Given the description of an element on the screen output the (x, y) to click on. 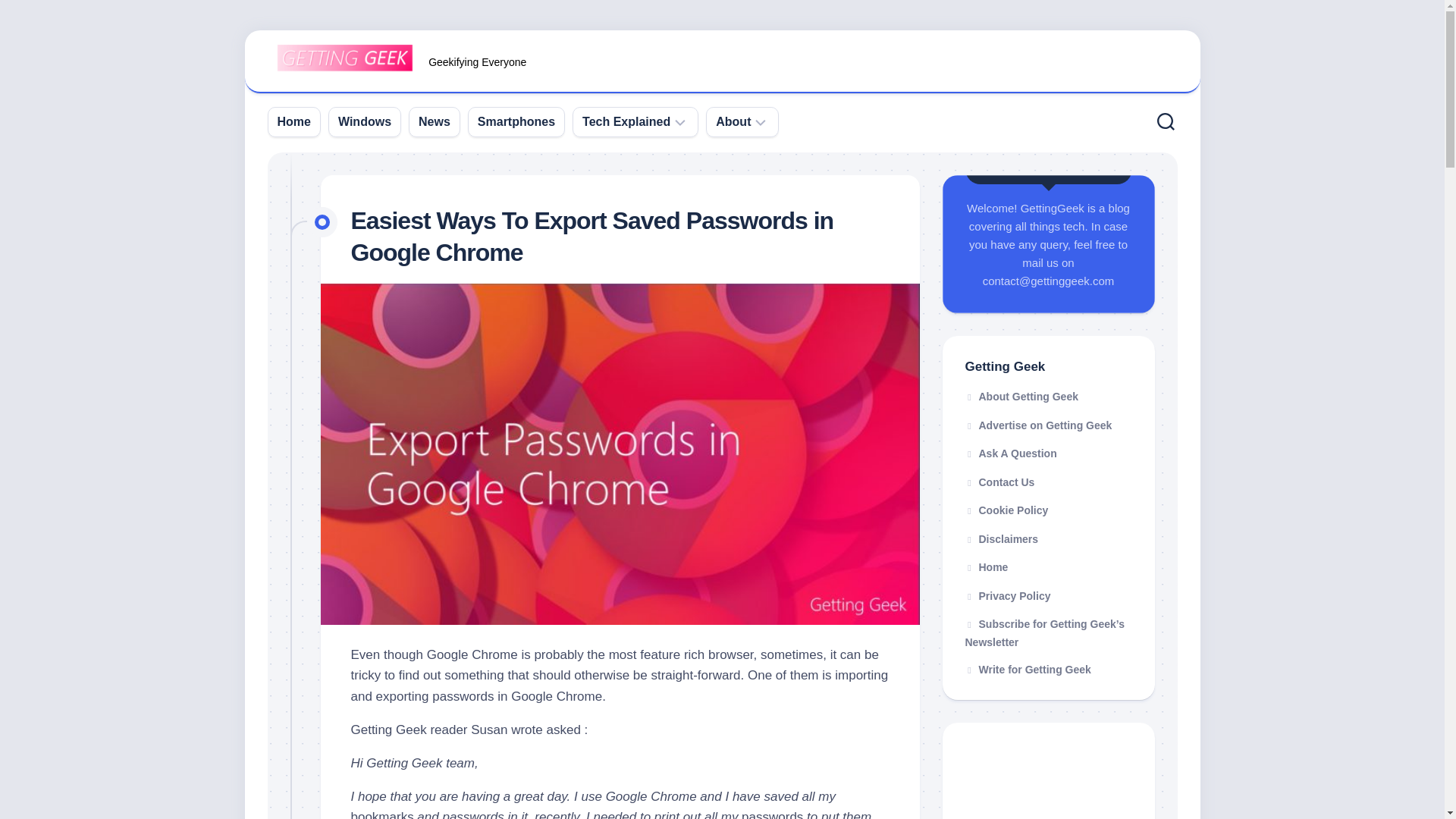
Tech Explained (625, 121)
News (434, 121)
Windows (364, 121)
Smartphones (515, 121)
Home (294, 121)
Geekifying Everyone (721, 62)
About (733, 121)
